Given the description of an element on the screen output the (x, y) to click on. 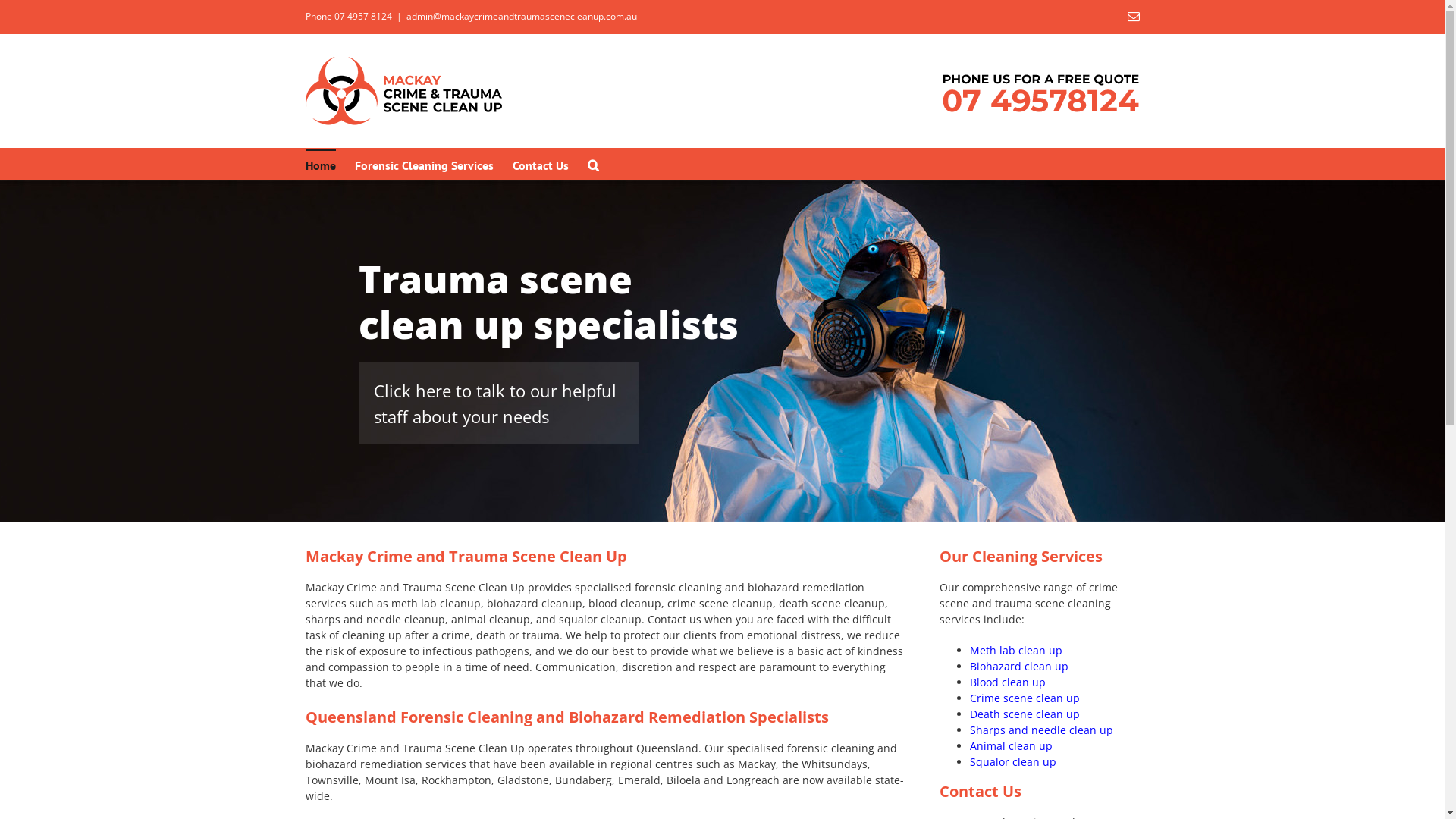
admin@mackaycrimeandtraumascenecleanup.com.au Element type: text (521, 15)
Squalor clean up Element type: text (1012, 761)
Crime scene clean up Element type: text (1024, 697)
Email Element type: text (1132, 16)
Blood clean up Element type: text (1006, 681)
Forensic Cleaning Services Element type: text (423, 163)
Sharps and needle clean up Element type: text (1040, 729)
Home Element type: text (319, 163)
Contact Us Element type: text (540, 163)
Search Element type: hover (592, 163)
Meth lab clean up Element type: text (1015, 650)
Animal clean up Element type: text (1010, 745)
Death scene clean up Element type: text (1024, 713)
Biohazard clean up Element type: text (1018, 665)
